Given the description of an element on the screen output the (x, y) to click on. 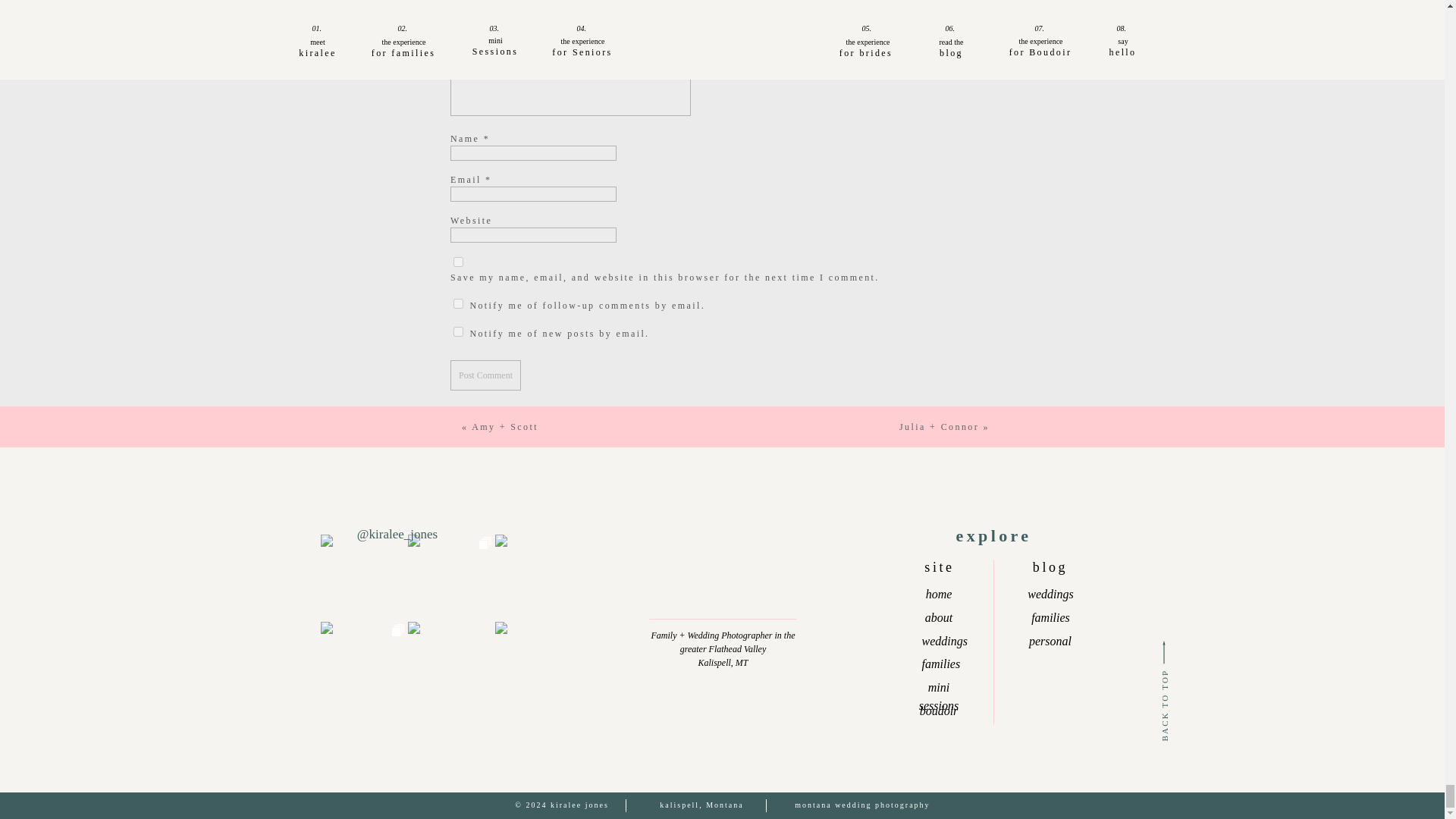
yes (457, 261)
Post Comment (485, 374)
subscribe (457, 330)
subscribe (457, 303)
